Given the description of an element on the screen output the (x, y) to click on. 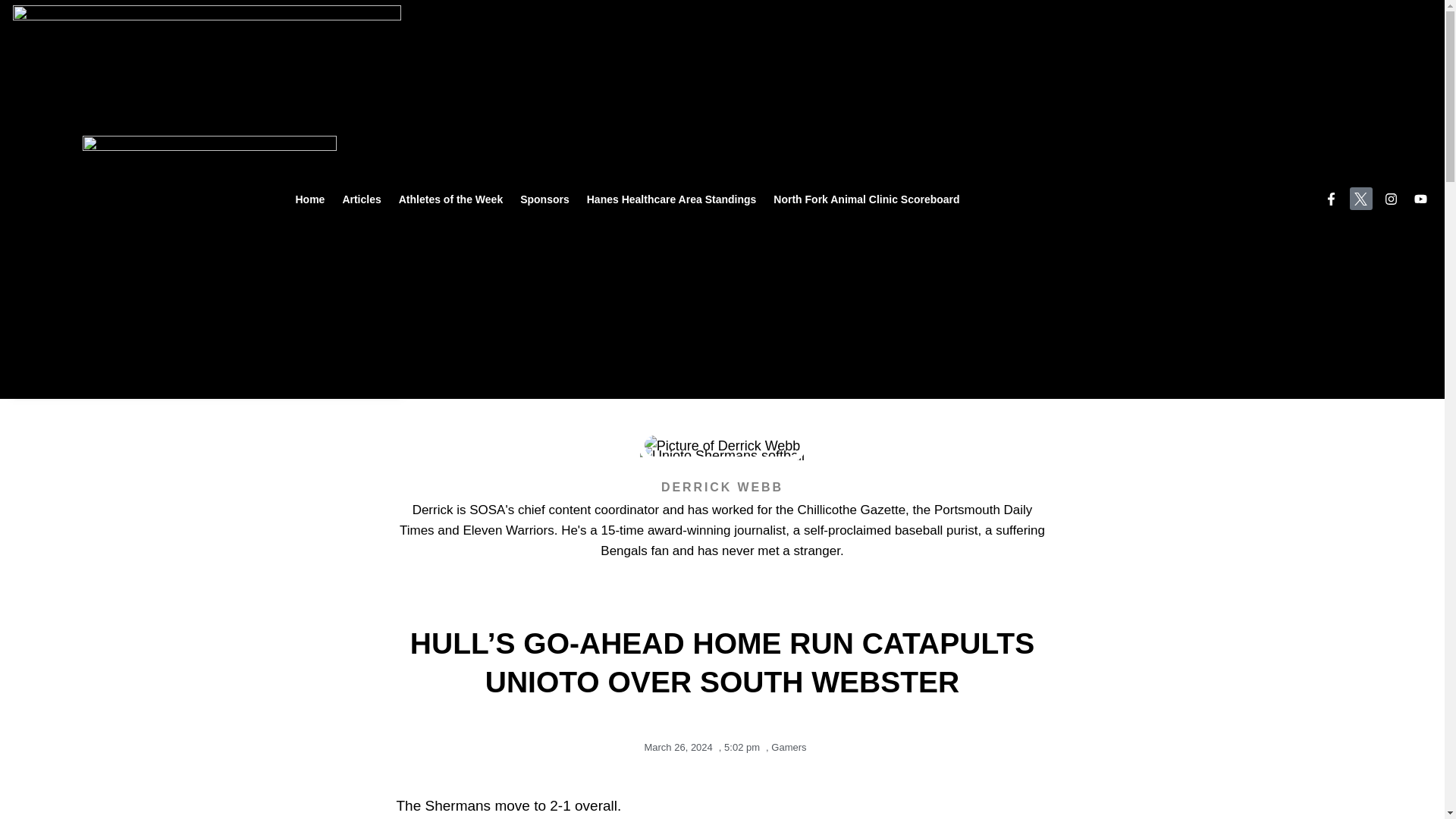
Sponsors (544, 198)
Home (309, 198)
March 26, 2024 (674, 747)
North Fork Animal Clinic Scoreboard (865, 198)
Articles (361, 198)
Gamers (788, 747)
Hanes Healthcare Area Standings (671, 198)
Athletes of the Week (450, 198)
Unioto Shermans softball (722, 455)
